Given the description of an element on the screen output the (x, y) to click on. 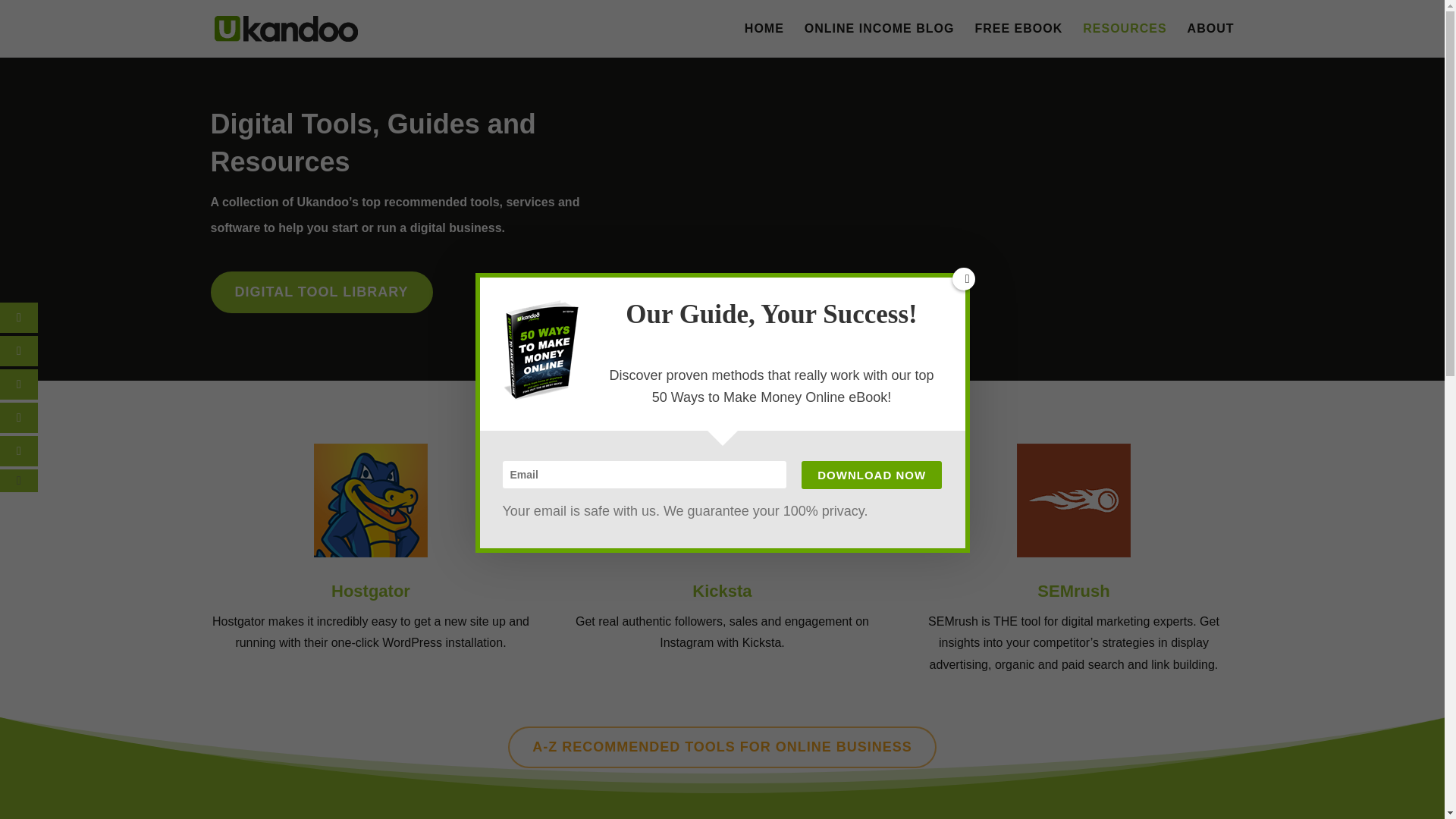
FREE EBOOK (1018, 40)
ONLINE INCOME BLOG (880, 40)
DOWNLOAD NOW (872, 474)
ABOUT (1211, 40)
A-Z RECOMMENDED TOOLS FOR ONLINE BUSINESS (722, 747)
RESOURCES (1124, 40)
DIGITAL TOOL LIBRARY (321, 291)
HOME (764, 40)
